Given the description of an element on the screen output the (x, y) to click on. 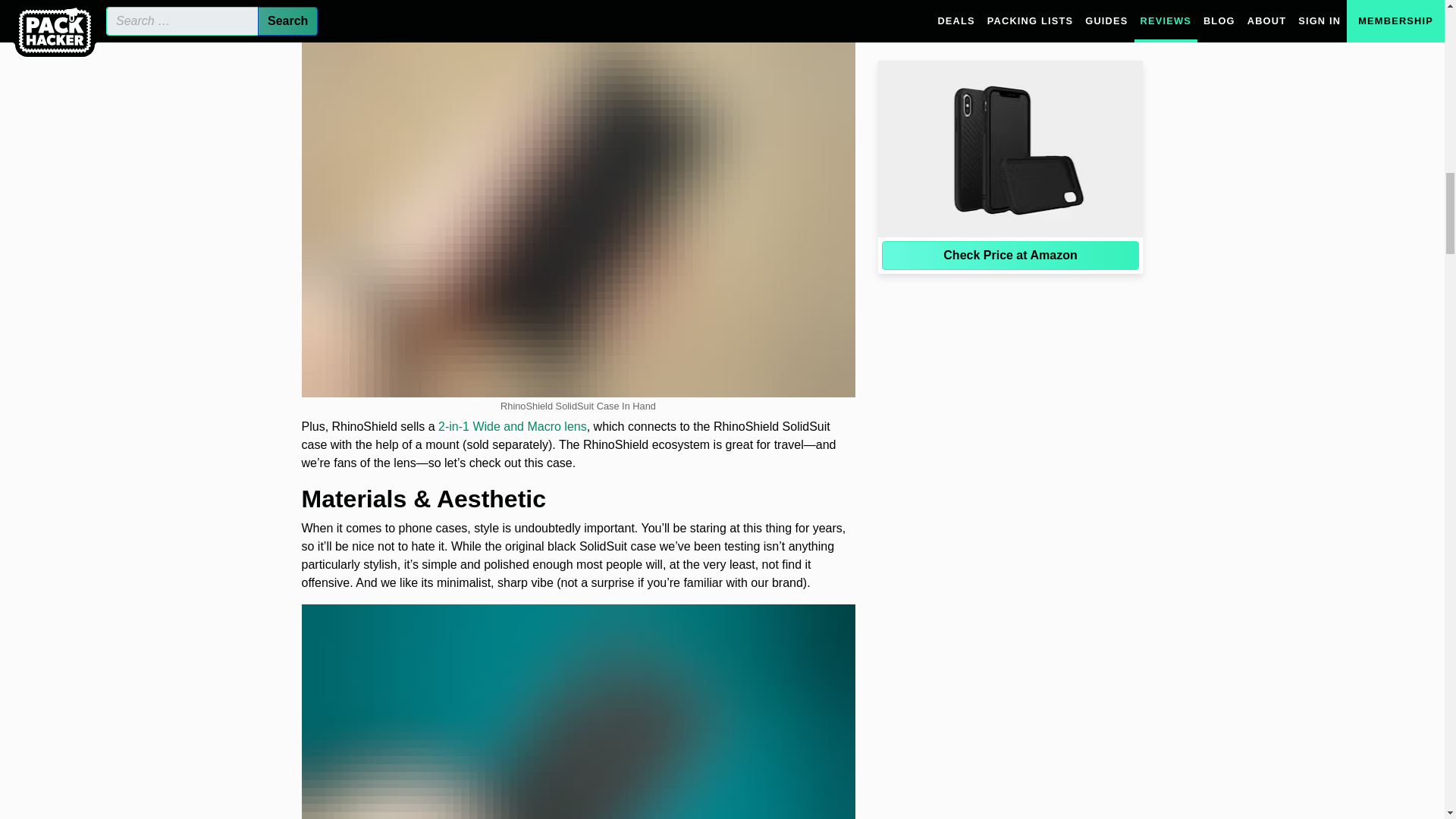
2-in-1 Wide and Macro lens (512, 426)
